Given the description of an element on the screen output the (x, y) to click on. 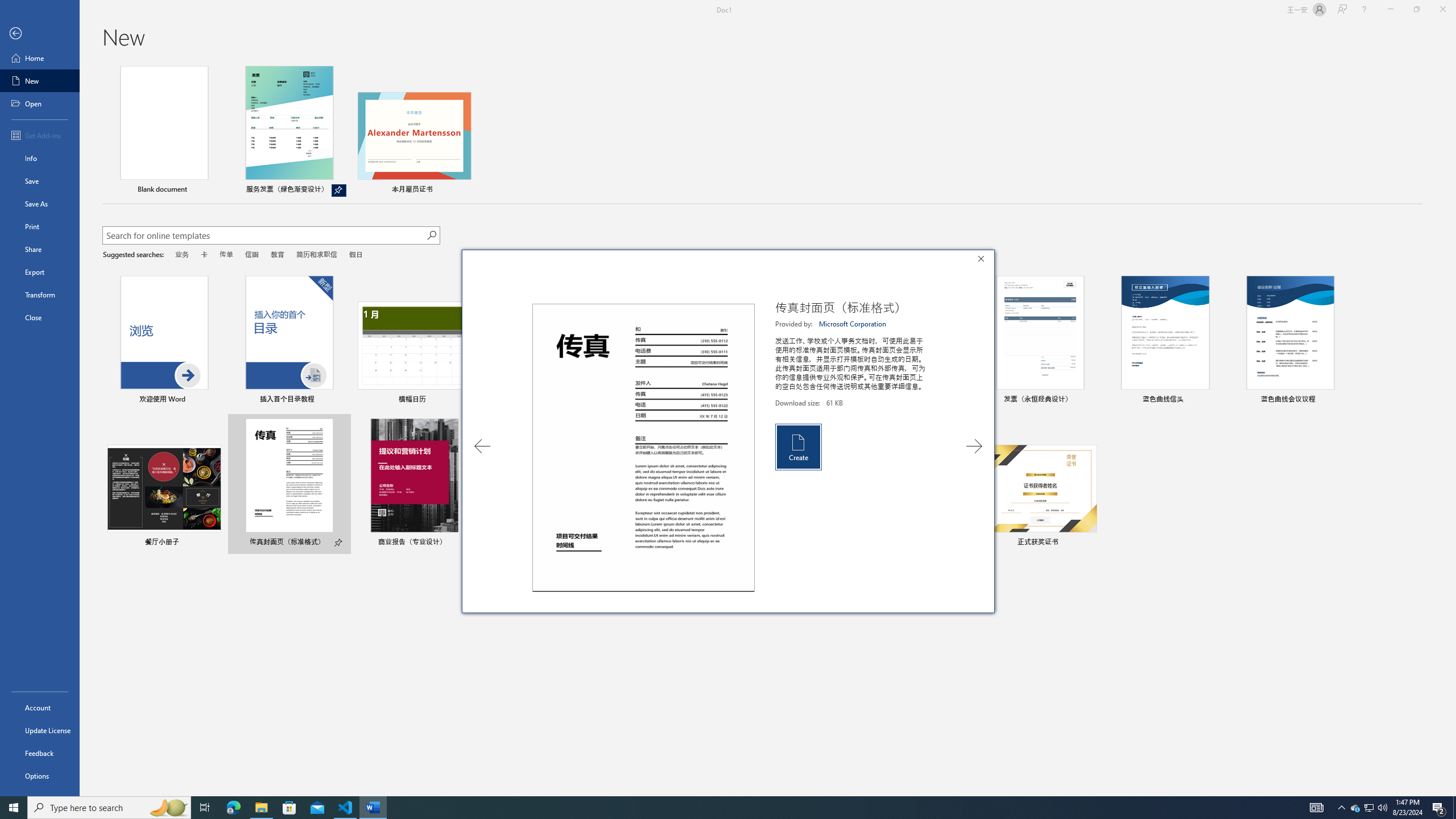
Feedback (40, 753)
Preview (643, 447)
Next Template (974, 446)
Previous Template (481, 446)
Get Add-ins (40, 134)
